Given the description of an element on the screen output the (x, y) to click on. 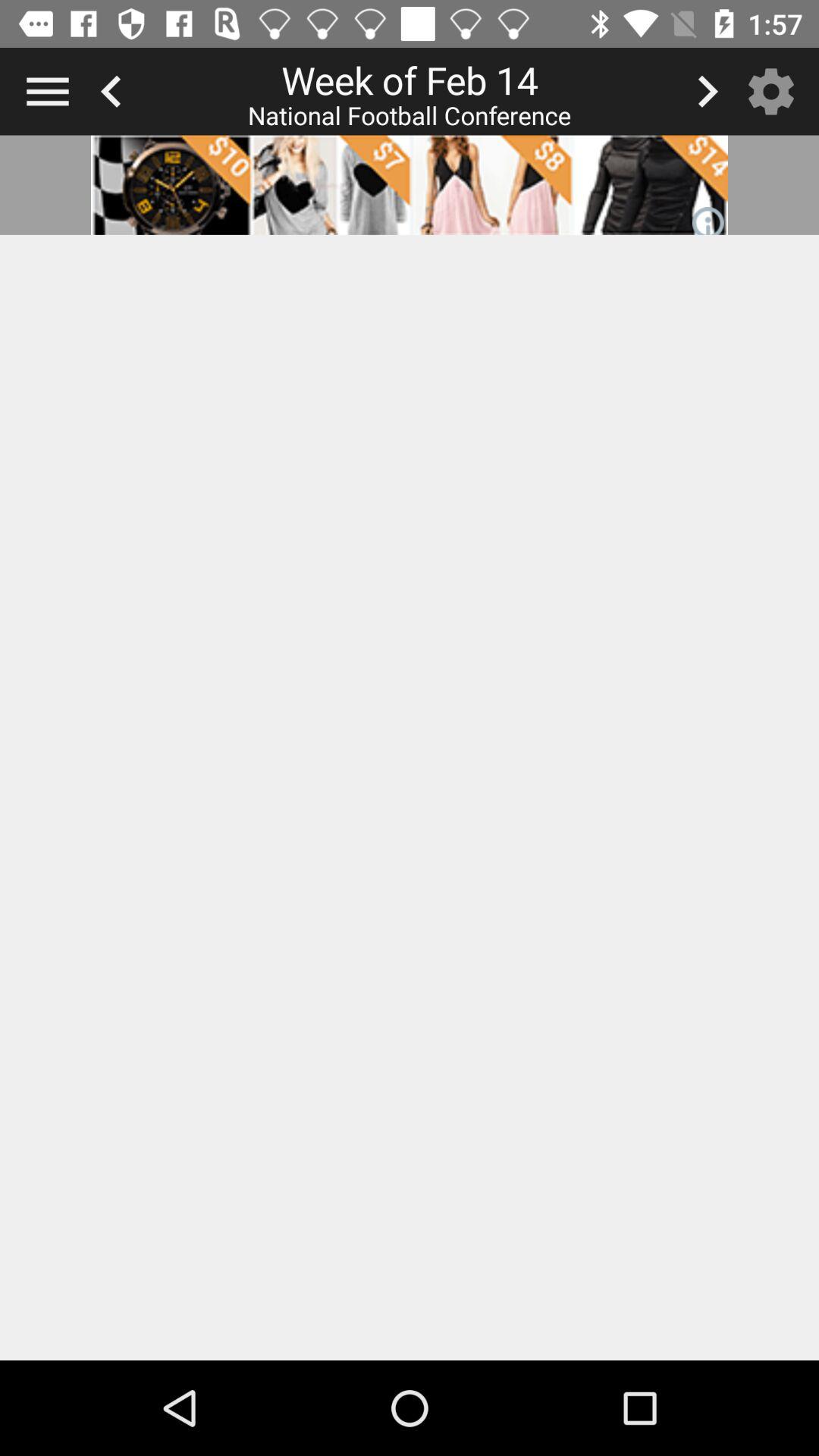
open advertisement (409, 184)
